Given the description of an element on the screen output the (x, y) to click on. 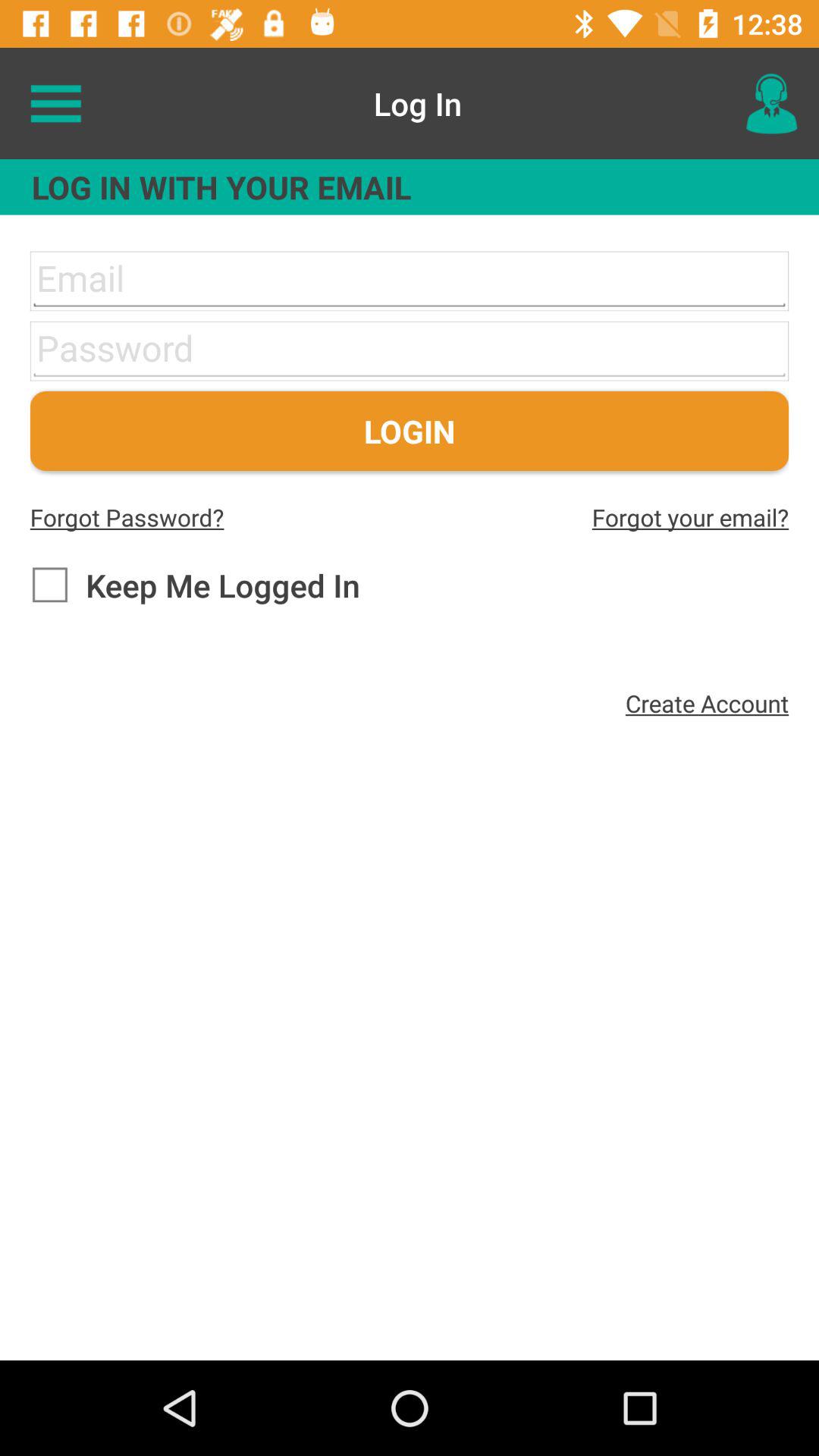
password textbox (409, 351)
